Given the description of an element on the screen output the (x, y) to click on. 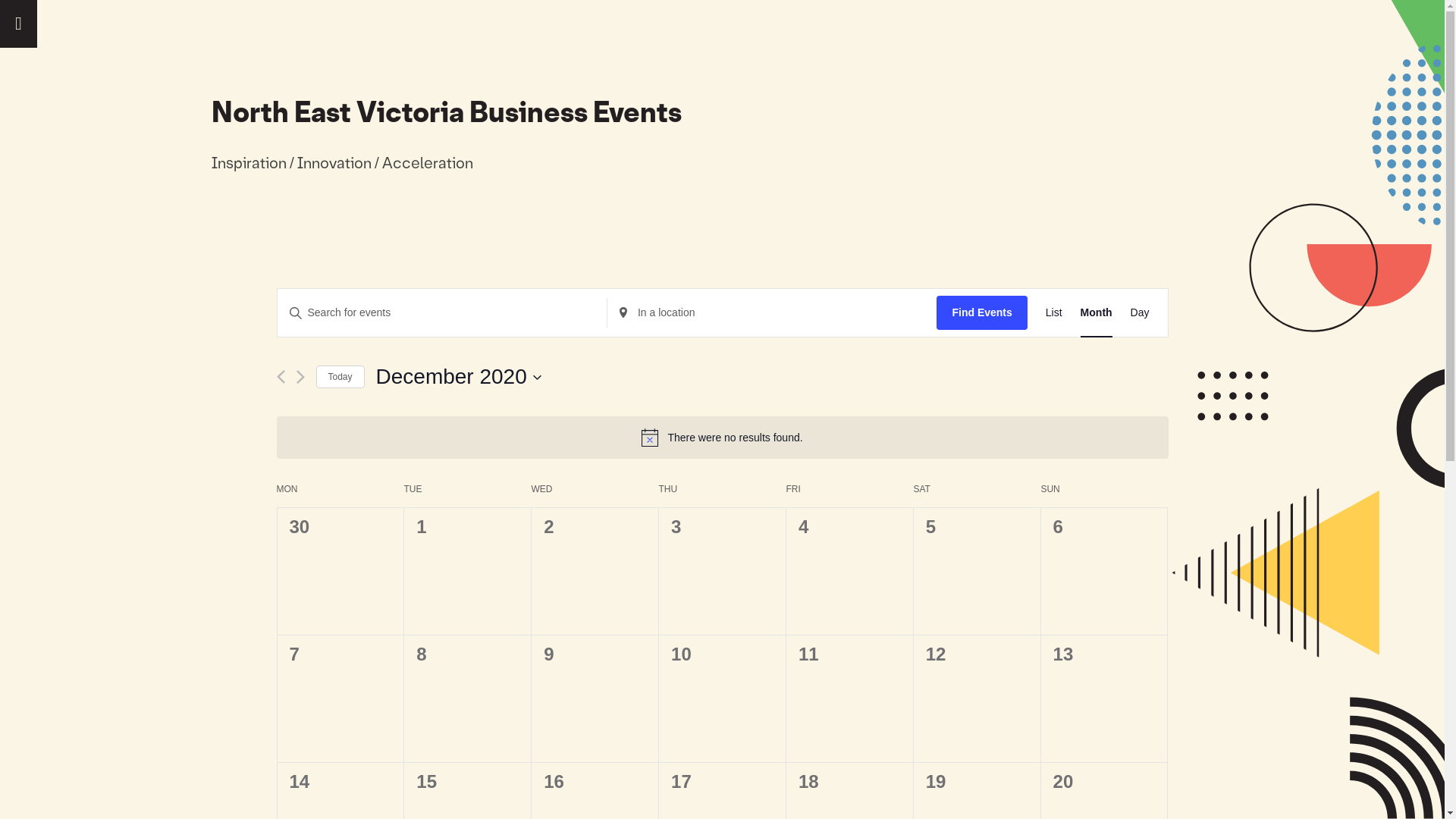
Today Element type: text (339, 377)
Previous month Element type: hover (280, 376)
Find Events Element type: text (981, 312)
List Element type: text (1053, 312)
Month Element type: text (1096, 312)
Day Element type: text (1139, 312)
December 2020 Element type: text (459, 376)
Next month Element type: hover (299, 376)
North East Victoria Business Events Element type: text (445, 112)
